Given the description of an element on the screen output the (x, y) to click on. 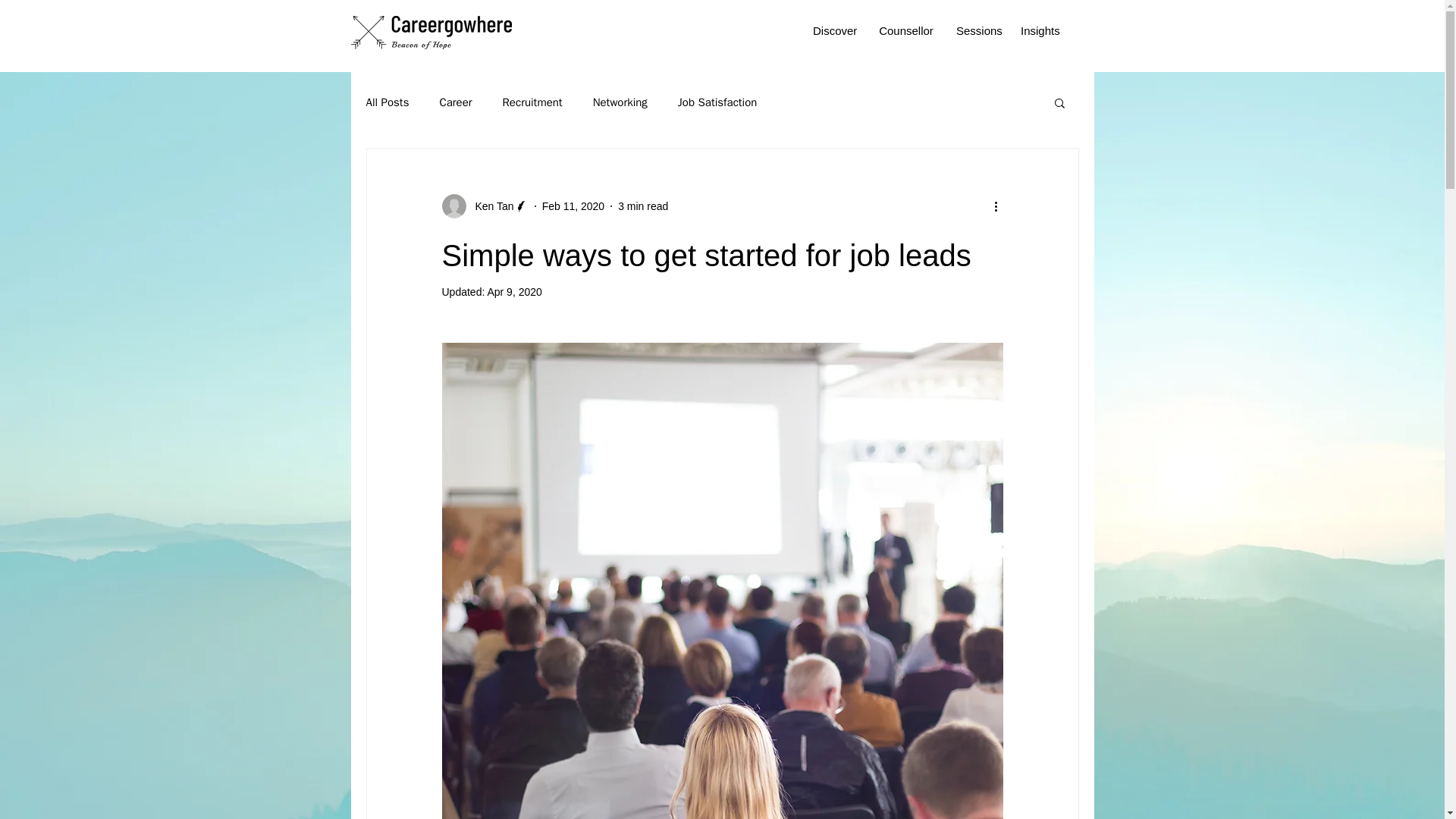
Ken Tan (484, 206)
Career (455, 102)
Networking (619, 102)
All Posts (387, 102)
Apr 9, 2020 (513, 291)
Recruitment (532, 102)
Feb 11, 2020 (573, 205)
3 min read (642, 205)
Job Satisfaction (717, 102)
Counsellor (905, 30)
